Given the description of an element on the screen output the (x, y) to click on. 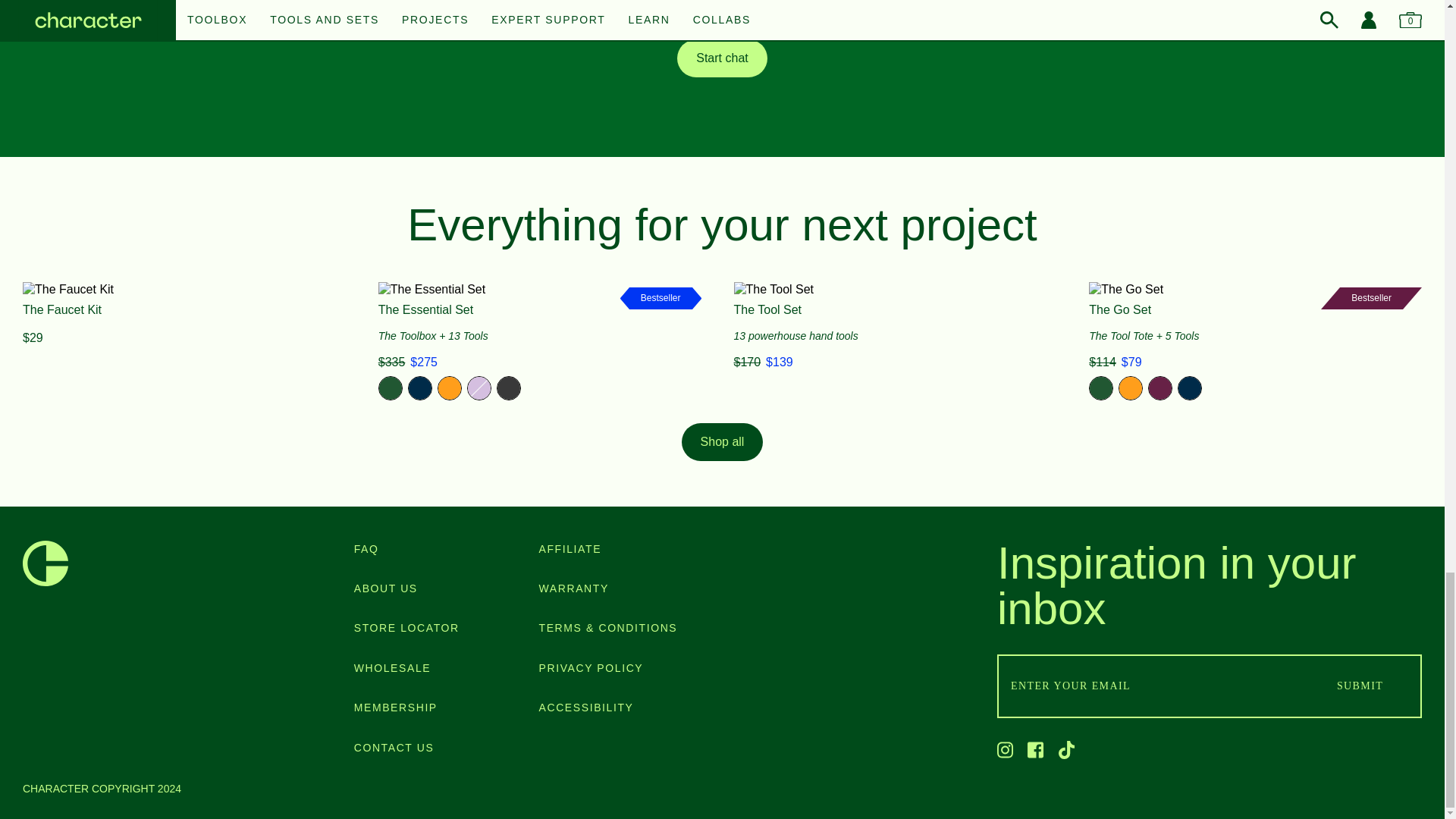
Character Logo - Icon (45, 563)
Site Logo (45, 563)
